Given the description of an element on the screen output the (x, y) to click on. 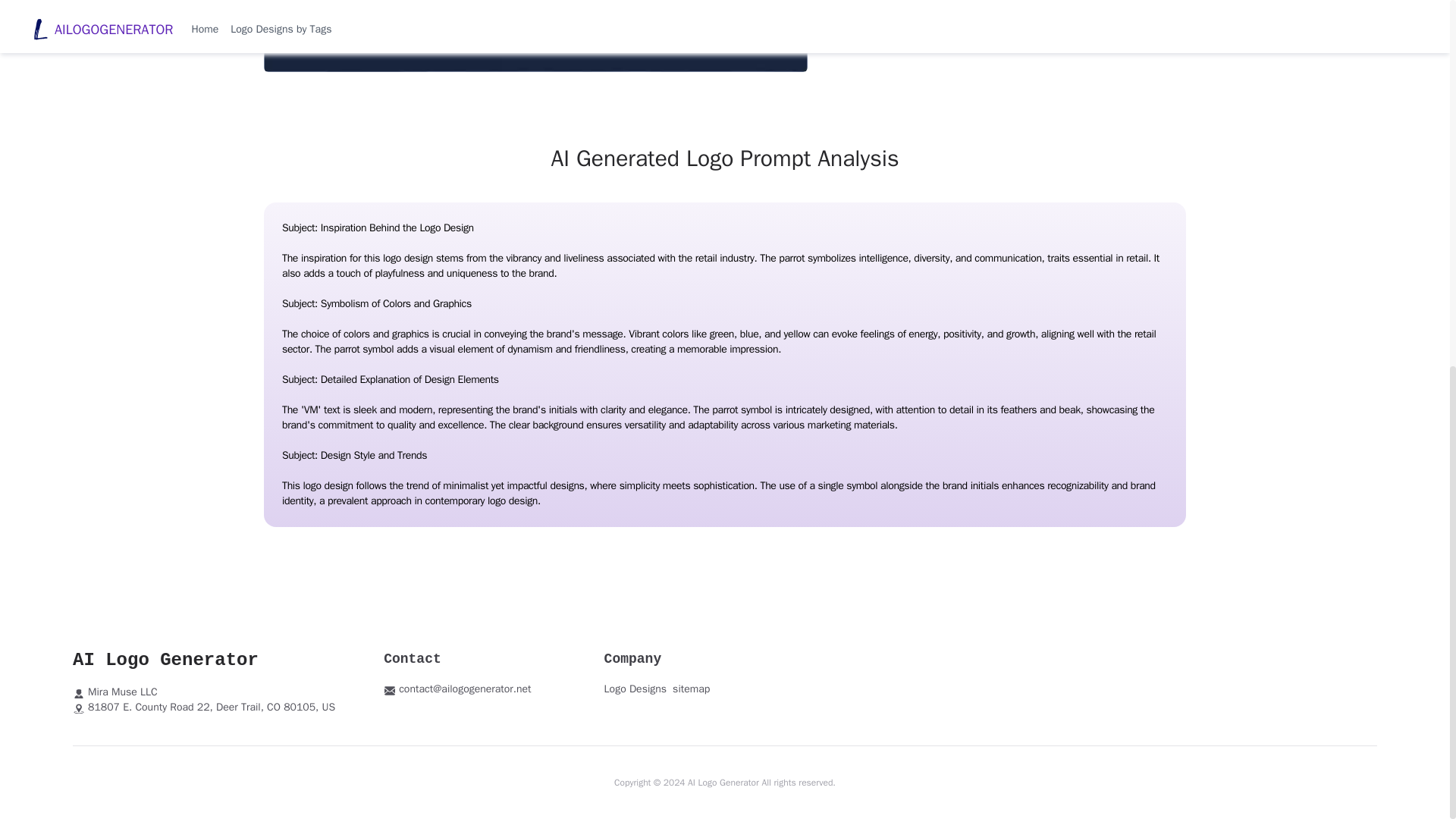
Logo Designs (635, 688)
sitemap (691, 688)
